Given the description of an element on the screen output the (x, y) to click on. 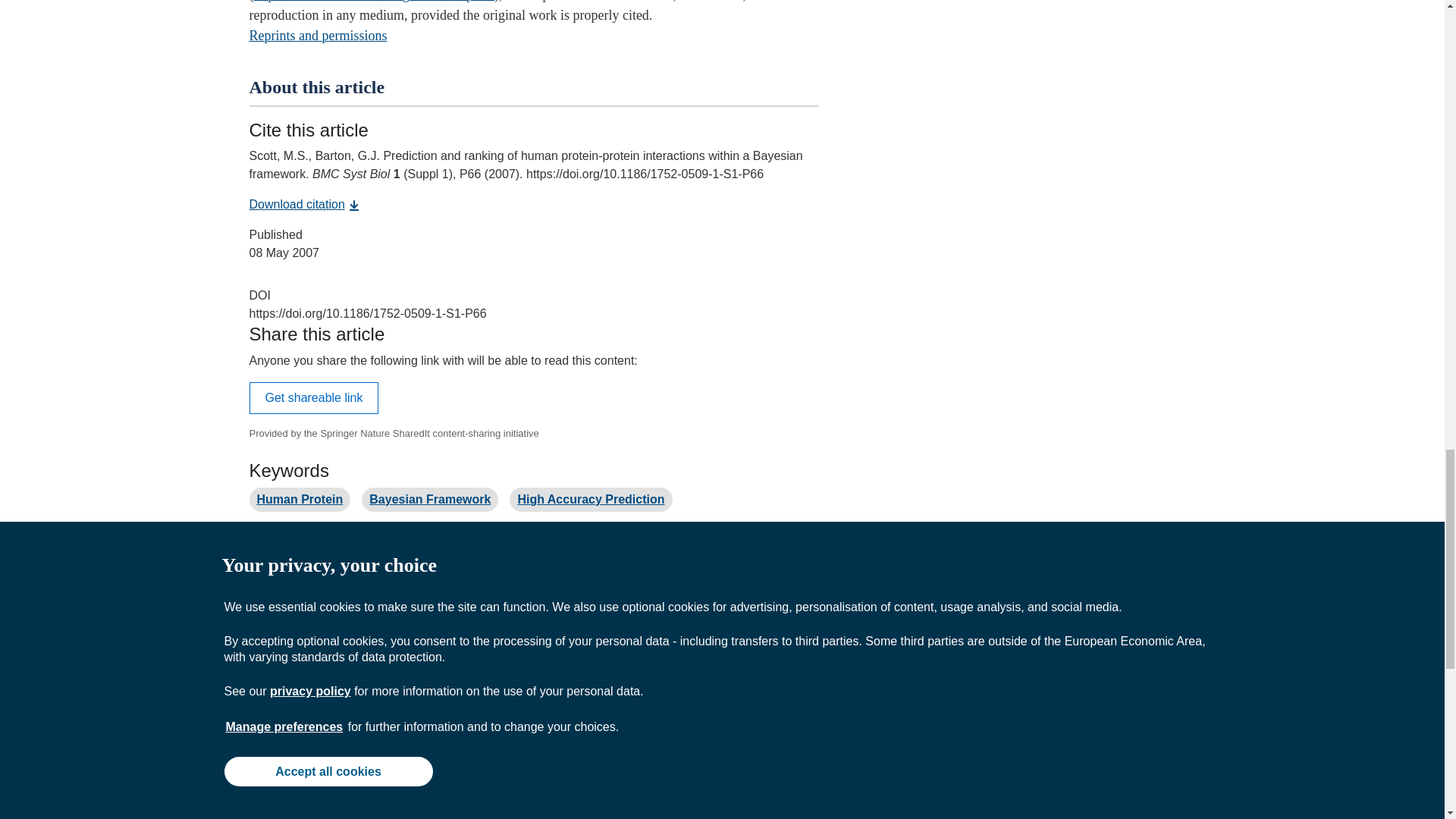
Reprints and permissions (317, 35)
Digital Object Identifier (258, 295)
Download citation (303, 204)
Get shareable link (313, 398)
